Given the description of an element on the screen output the (x, y) to click on. 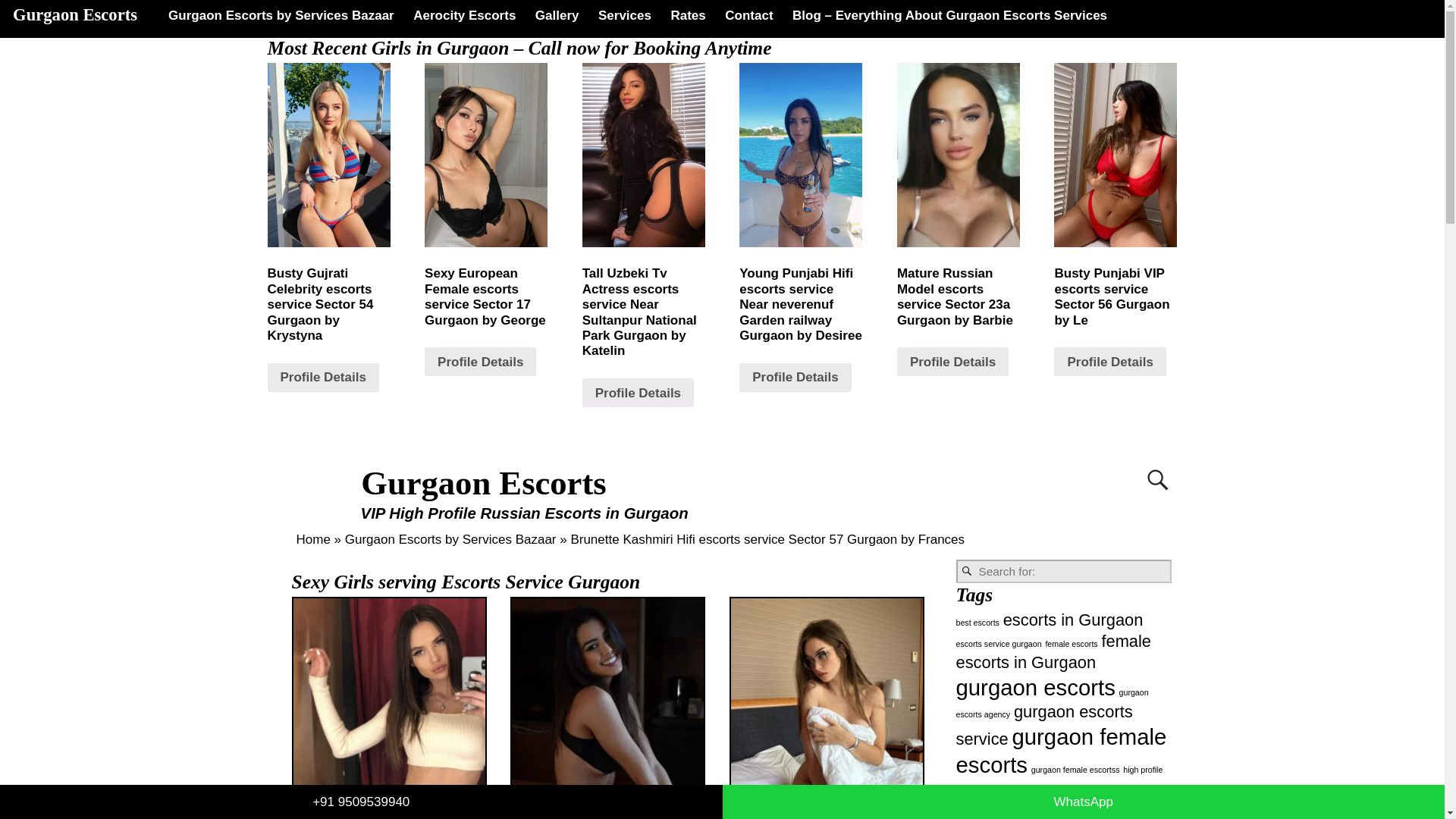
Profile Details (1110, 361)
Profile Details (952, 361)
Gurgaon Escorts (483, 483)
Gurgaon Escorts by Services Bazaar (450, 539)
Home (312, 539)
Gurgaon Escorts by Services Bazaar (280, 15)
Profile Details (638, 392)
Aerocity Escorts (464, 15)
Profile Details (322, 377)
Profile Details (480, 361)
Gallery (556, 15)
Contact (749, 15)
Profile Details (794, 377)
Gurgaon Escorts (483, 483)
Services (624, 15)
